Given the description of an element on the screen output the (x, y) to click on. 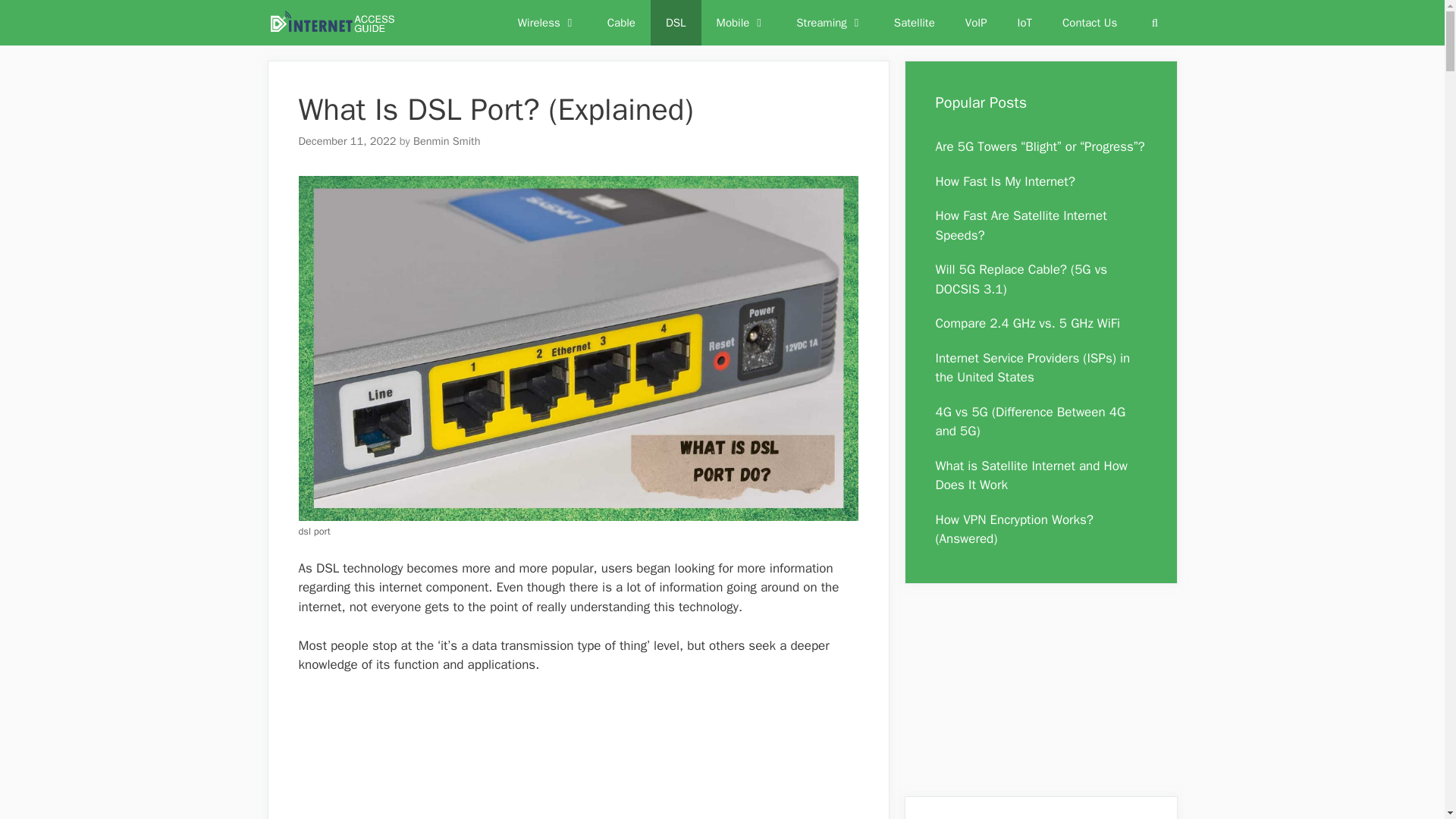
Internet Access Guide (331, 22)
Benmin Smith (446, 141)
Contact Us (1089, 22)
Cable (621, 22)
IoT (1024, 22)
December 11, 2022 (347, 141)
Mobile (741, 22)
Wireless (547, 22)
DSL (675, 22)
VoIP (976, 22)
